Given the description of an element on the screen output the (x, y) to click on. 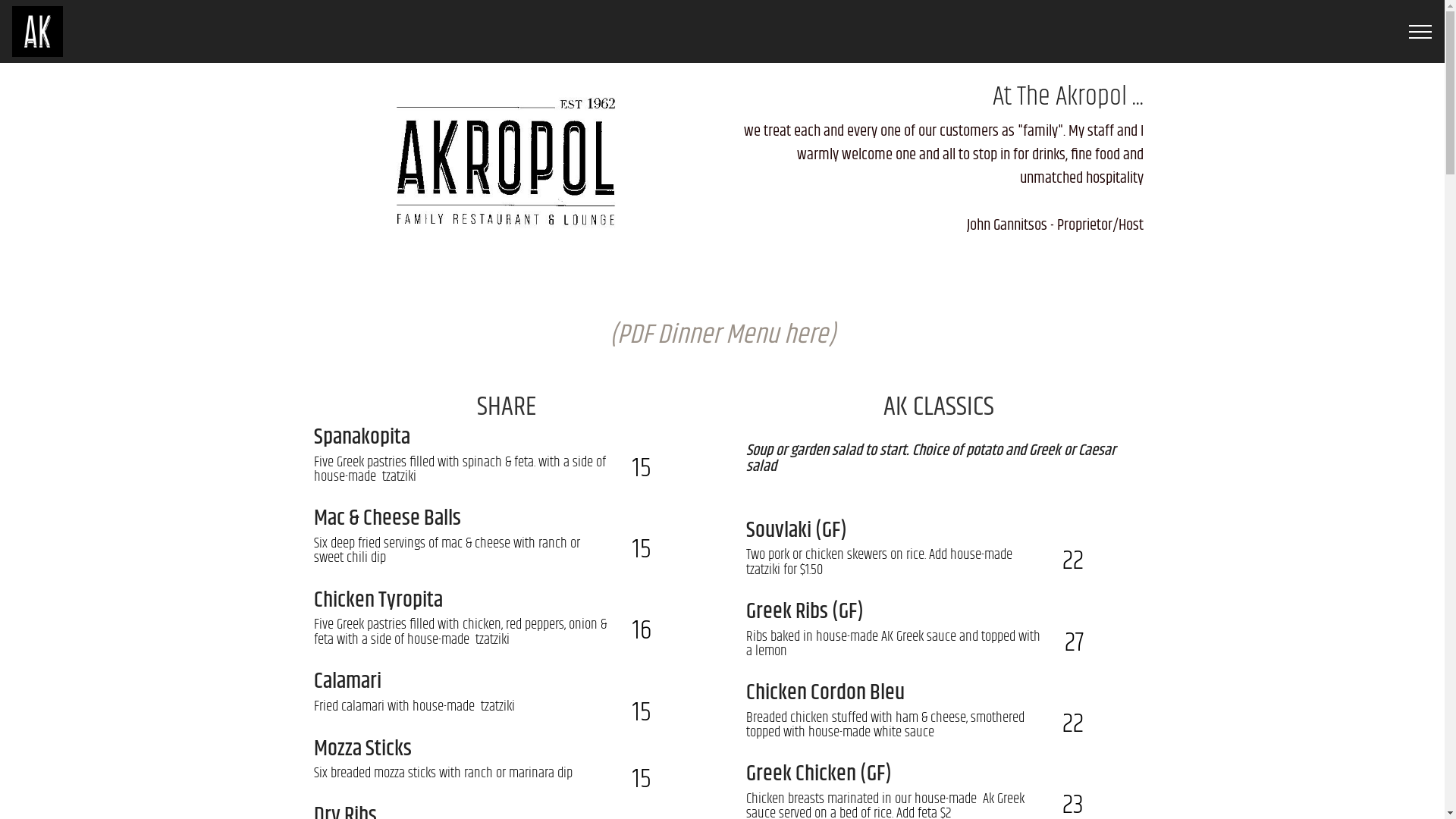
(PDF Dinner Menu here) Element type: text (722, 334)
